Given the description of an element on the screen output the (x, y) to click on. 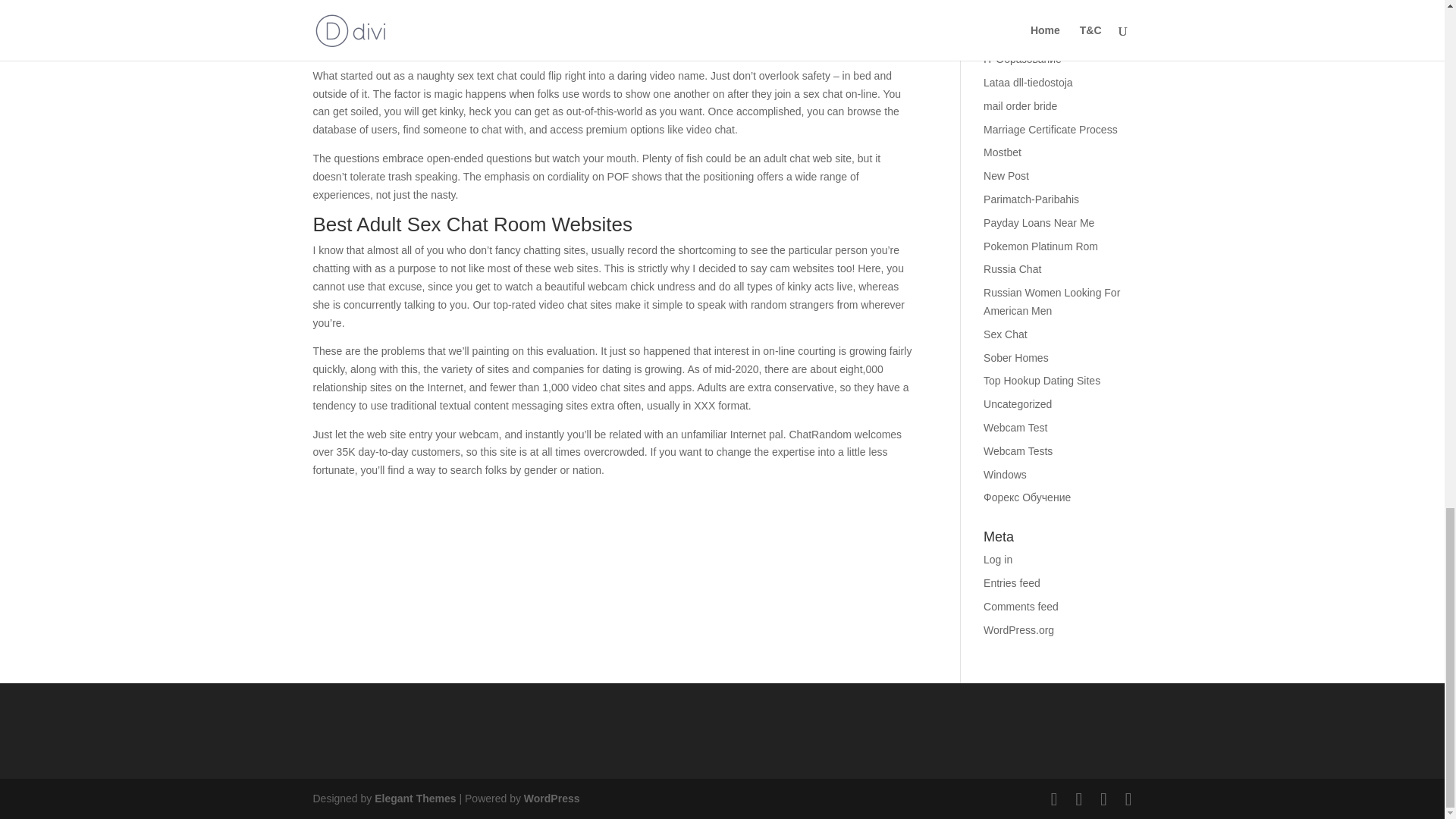
Premium WordPress Themes (414, 798)
